Given the description of an element on the screen output the (x, y) to click on. 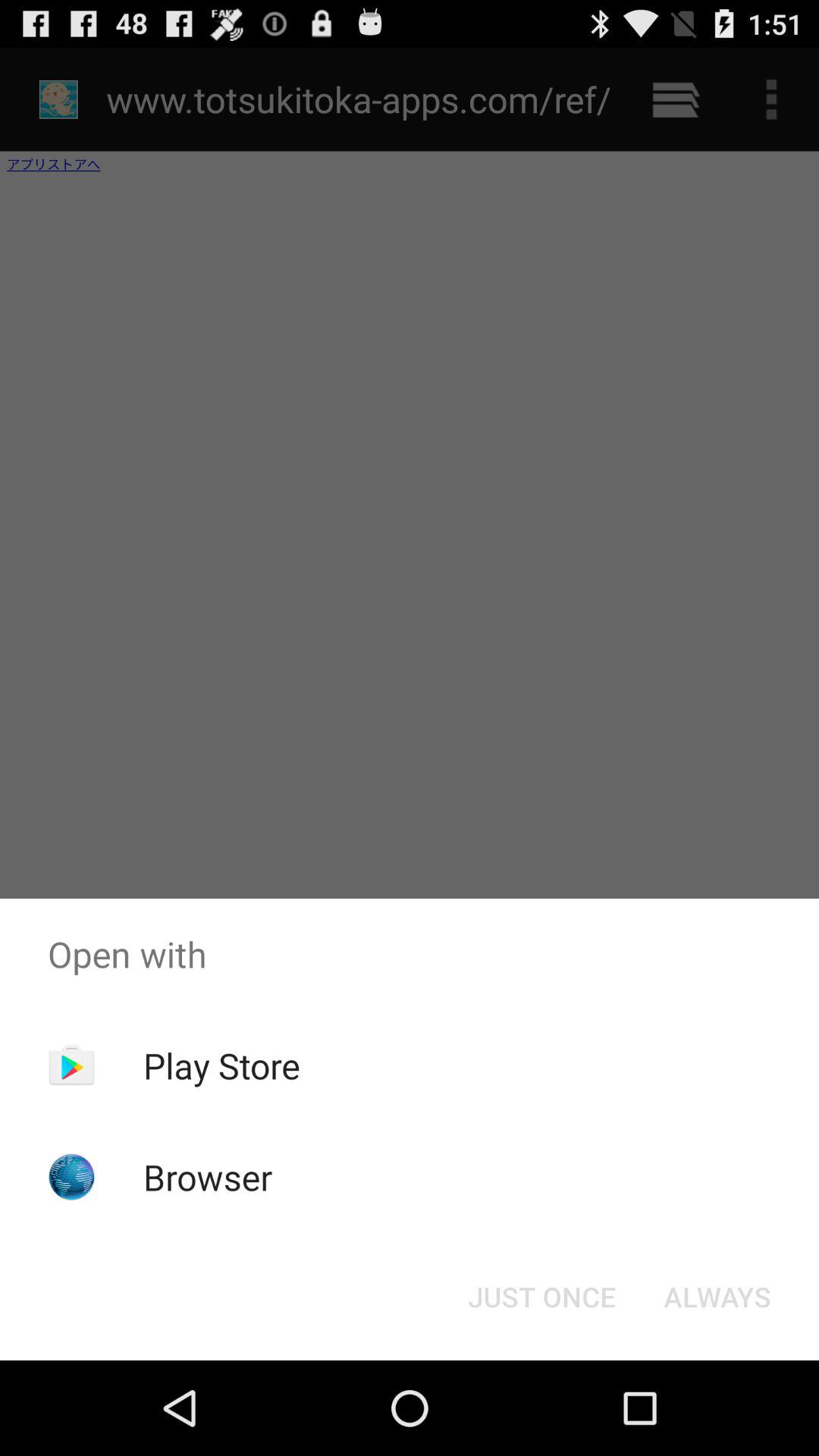
turn off the icon at the bottom (541, 1296)
